Given the description of an element on the screen output the (x, y) to click on. 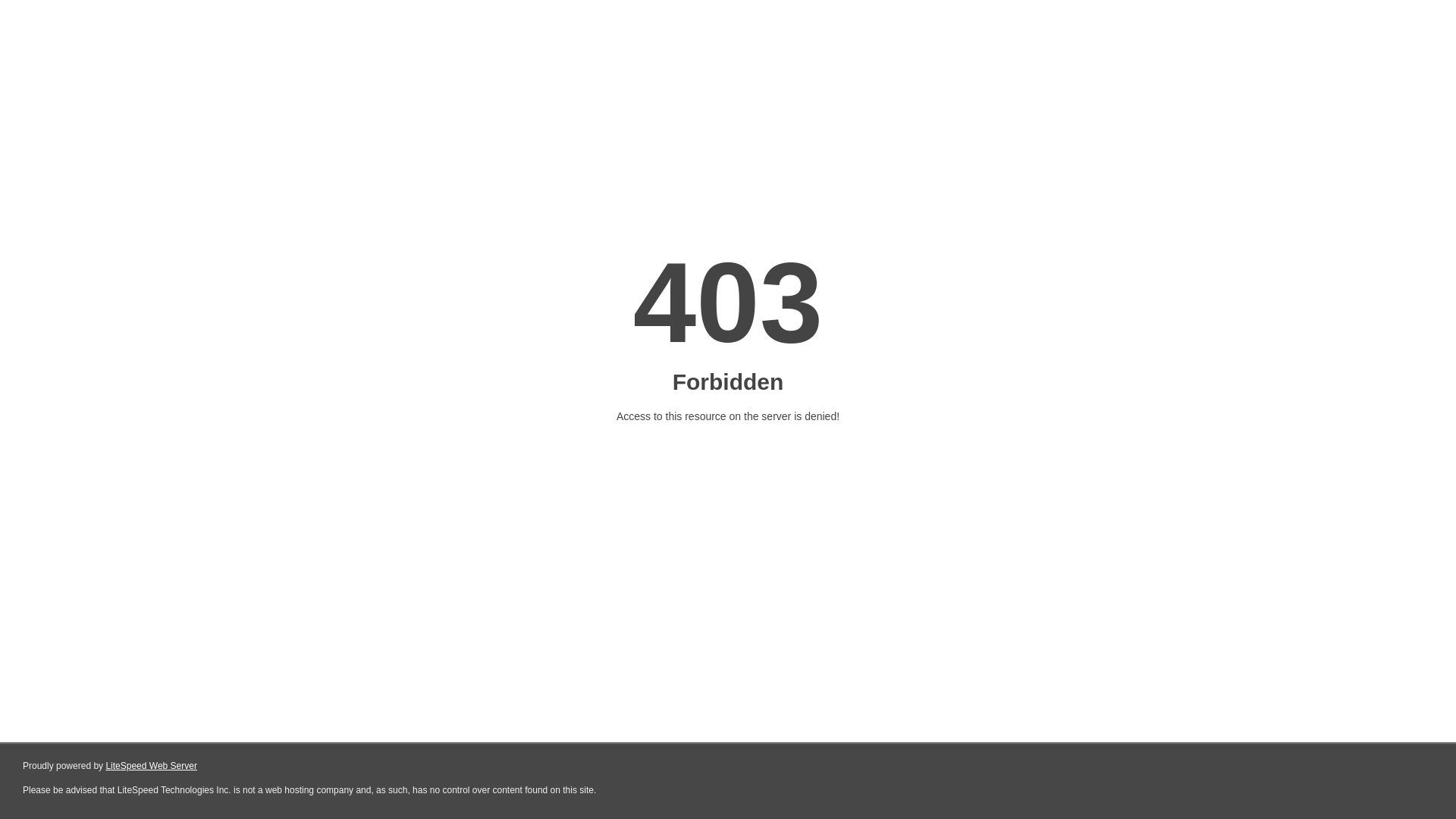
LiteSpeed Web Server Element type: text (151, 765)
